Given the description of an element on the screen output the (x, y) to click on. 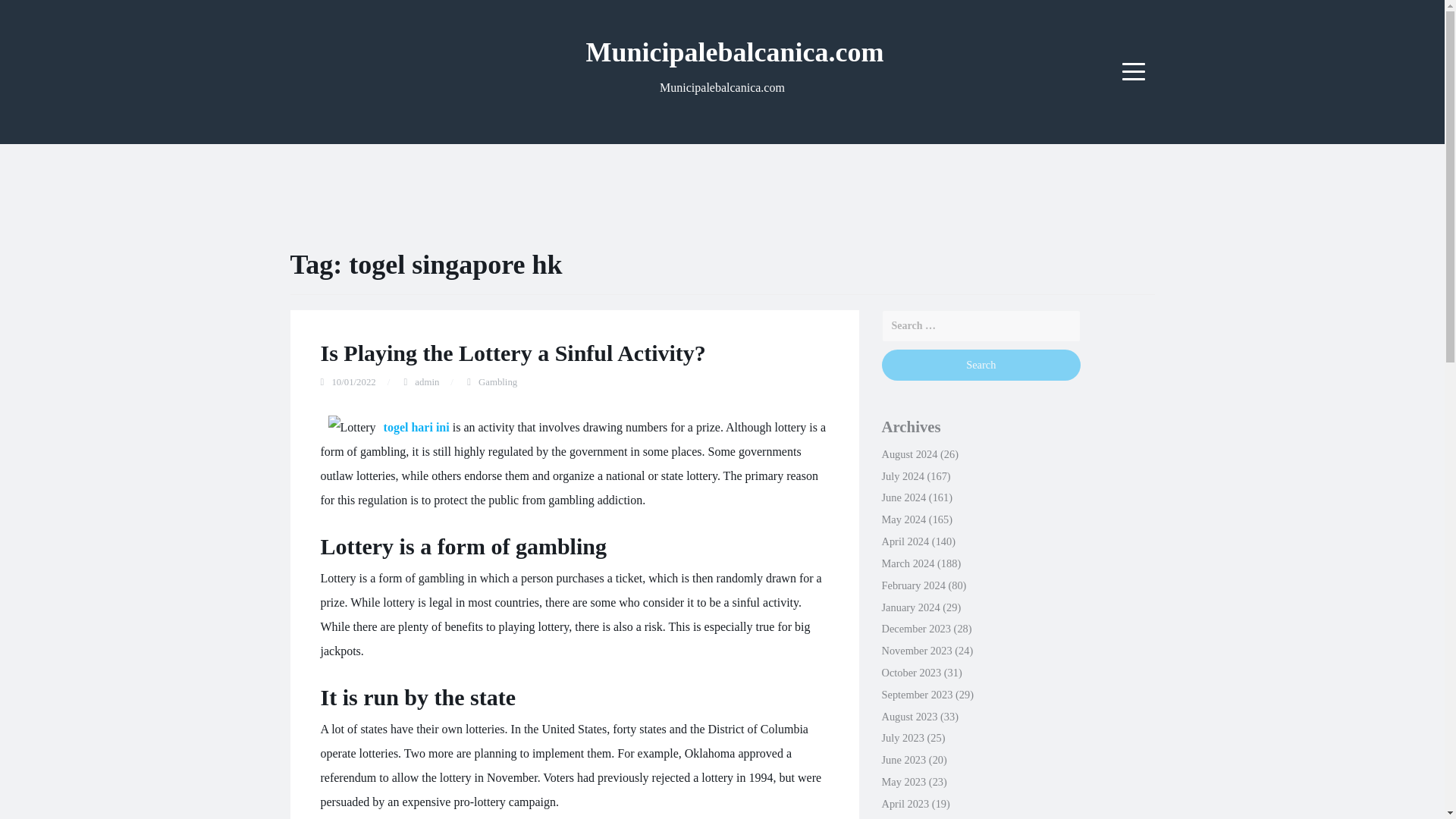
February 2024 (912, 585)
July 2024 (901, 476)
Gambling (497, 381)
August 2023 (908, 716)
Search (980, 364)
October 2023 (910, 672)
June 2024 (903, 497)
May 2023 (903, 781)
togel hari ini (416, 427)
March 2024 (907, 563)
